Given the description of an element on the screen output the (x, y) to click on. 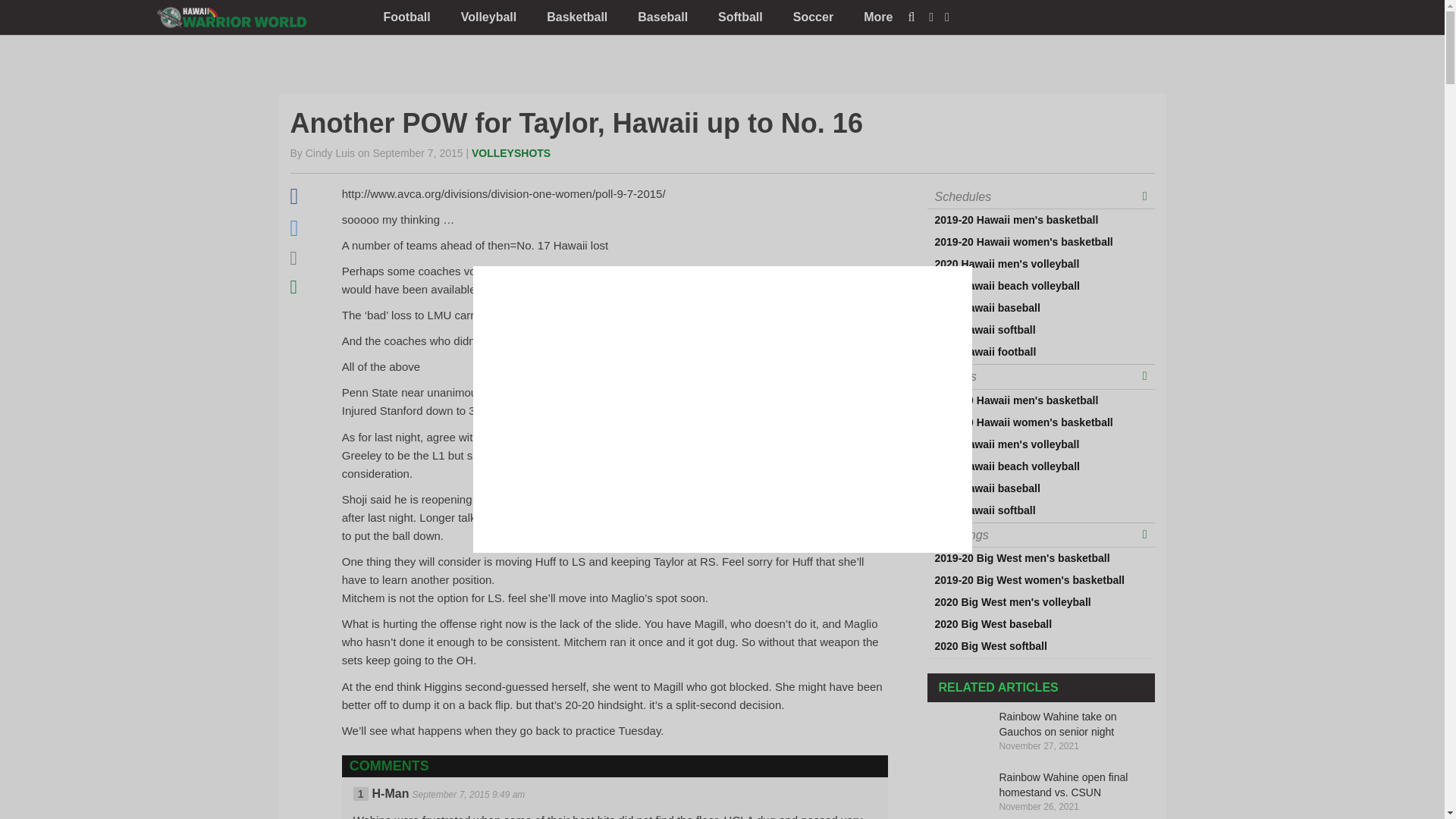
Softball (740, 17)
Baseball (663, 17)
Football (406, 17)
Baseball (663, 17)
Basketball (577, 17)
Volleyball (488, 17)
Basketball (577, 17)
Softball (740, 17)
More (877, 17)
Football (406, 17)
